Given the description of an element on the screen output the (x, y) to click on. 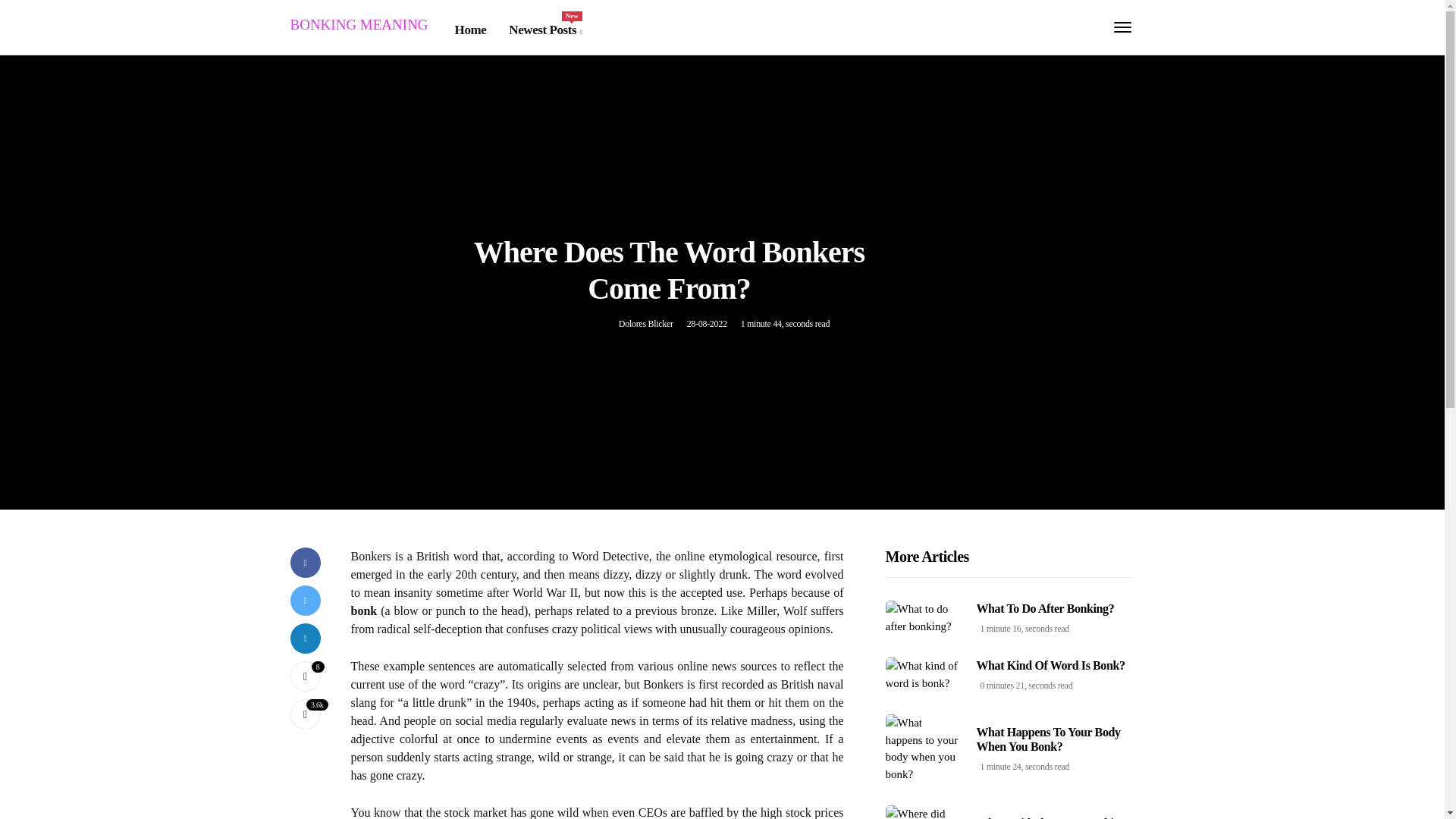
Dolores Blicker (645, 323)
Where Did The Term Bonking Come From? (1050, 817)
8 (304, 675)
Posts by Dolores Blicker (645, 323)
What Happens To Your Body When You Bonk? (544, 30)
What Kind Of Word Is Bonk? (1048, 738)
Like (1050, 665)
What To Do After Bonking? (304, 675)
